Given the description of an element on the screen output the (x, y) to click on. 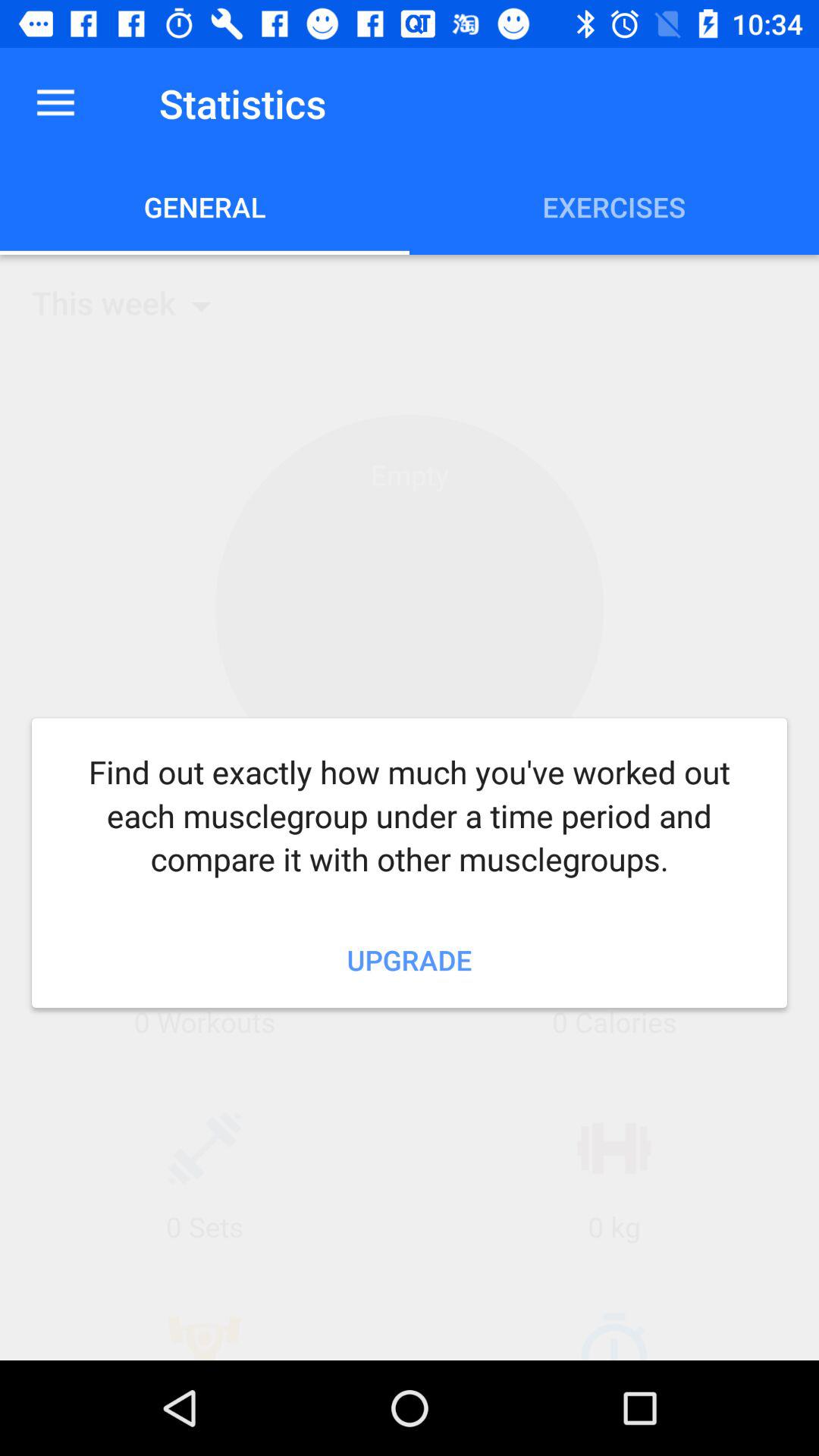
turn off item to the left of exercises (204, 206)
